Given the description of an element on the screen output the (x, y) to click on. 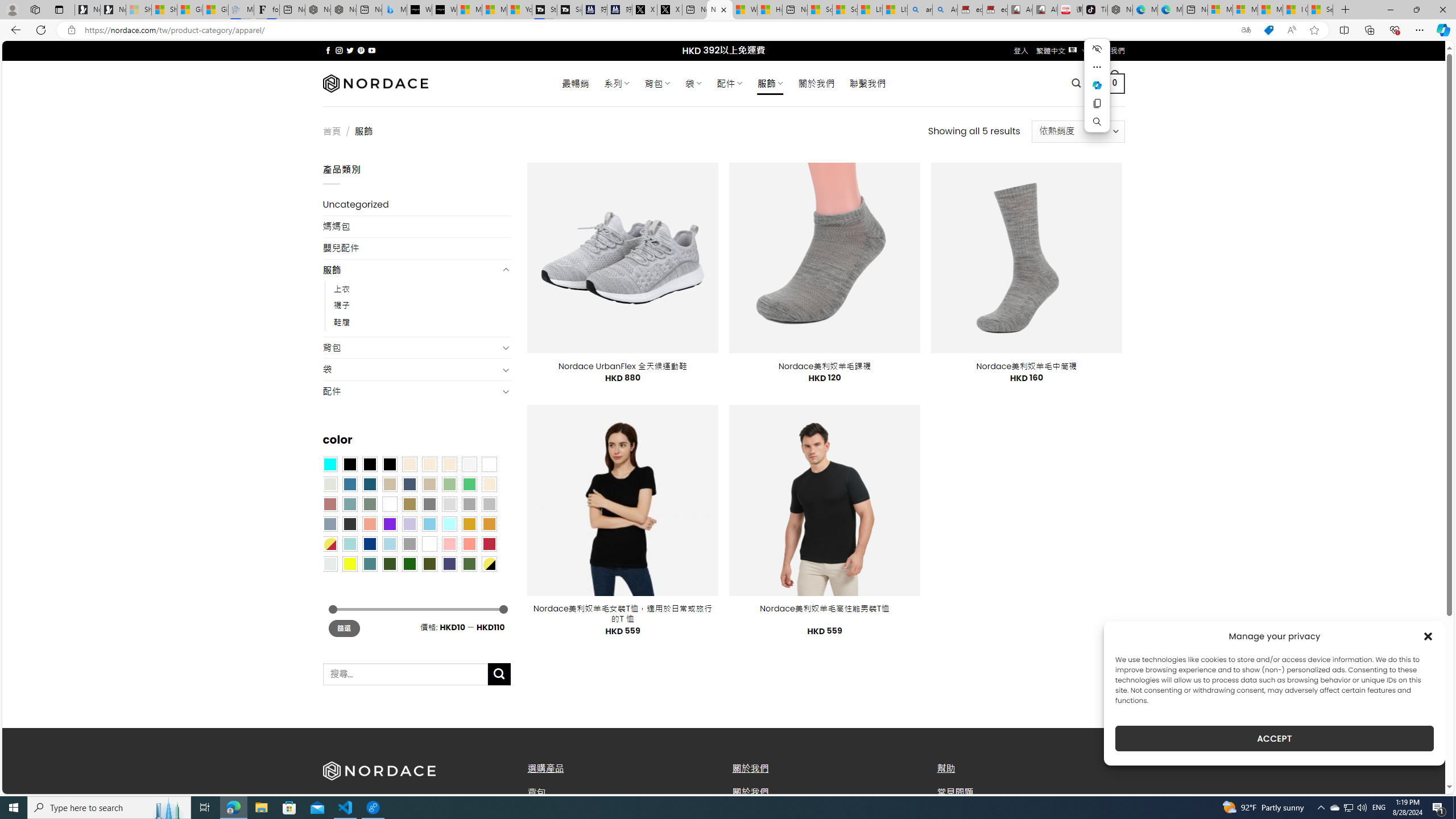
Hide menu (1096, 49)
Refresh (40, 29)
Nordace - Best Sellers (1119, 9)
Minimize (1390, 9)
